Given the description of an element on the screen output the (x, y) to click on. 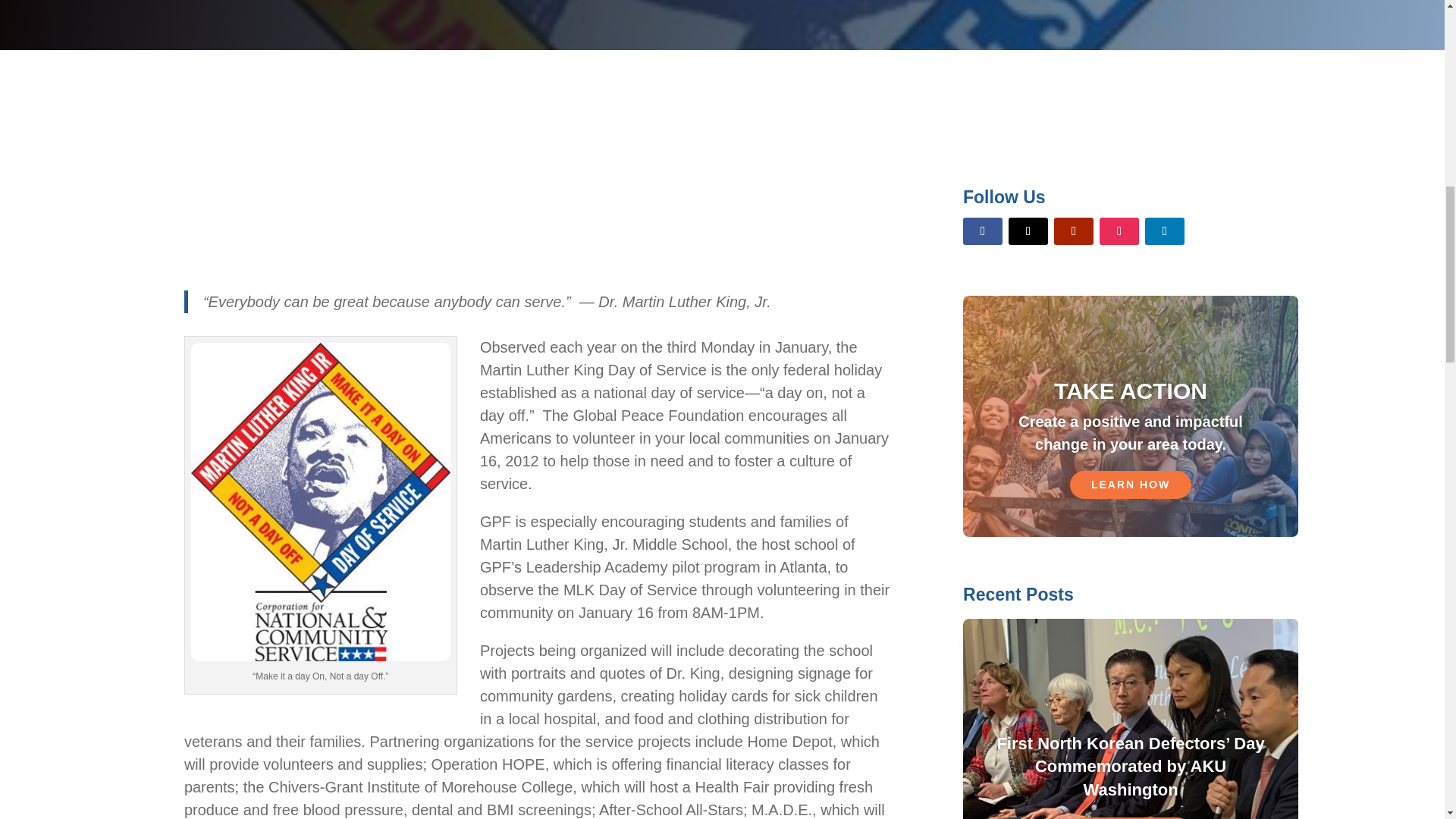
Follow on Facebook (982, 230)
Follow on X (1028, 230)
Follow on Instagram (1118, 230)
Follow on LinkedIn (1164, 230)
Follow on Youtube (1073, 230)
